Given the description of an element on the screen output the (x, y) to click on. 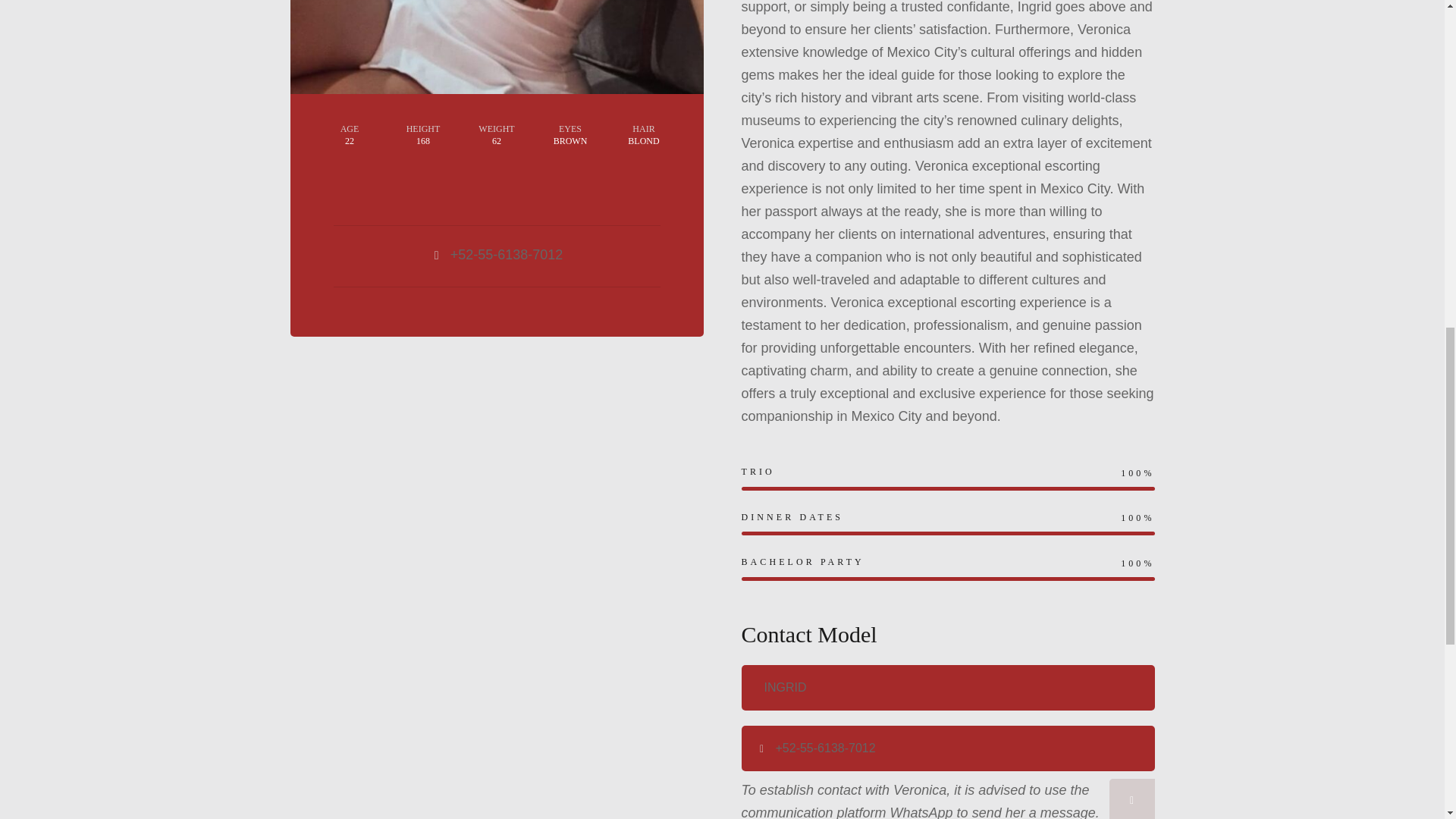
Send (1131, 798)
Ingrid (947, 687)
Send (1131, 798)
